Given the description of an element on the screen output the (x, y) to click on. 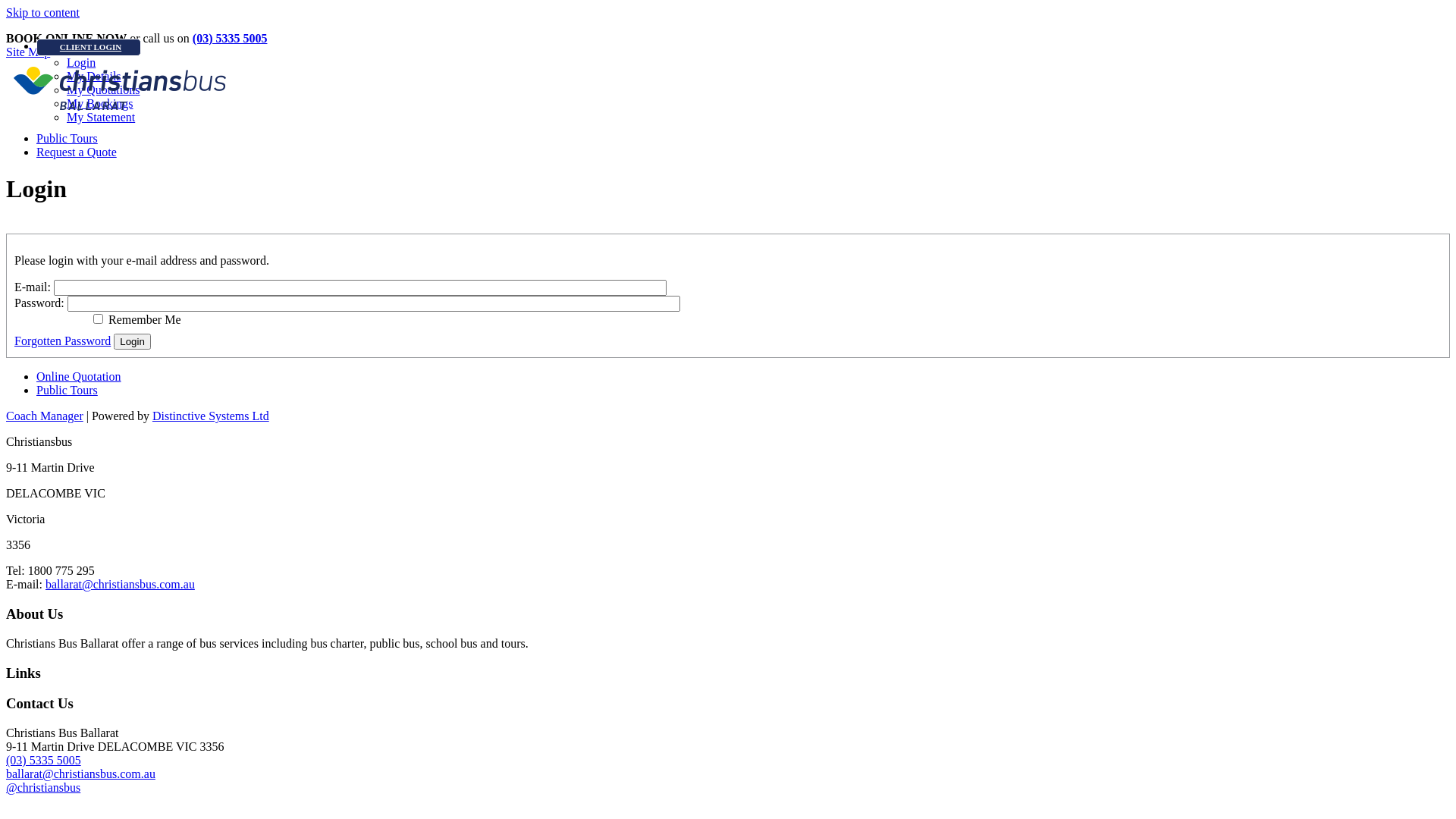
Coach Manager Element type: text (44, 415)
Public Tours Element type: text (66, 389)
Distinctive Systems Ltd Element type: text (210, 415)
Online Quotation Element type: text (78, 376)
Site Map Element type: text (28, 51)
(03) 5335 5005 Element type: text (43, 759)
My Details Element type: text (479, 76)
My Bookings Element type: text (479, 103)
Request a Quote Element type: text (76, 151)
ballarat@christiansbus.com.au Element type: text (80, 773)
Login Element type: text (131, 341)
My Statement Element type: text (479, 117)
CLIENT LOGIN Element type: text (88, 47)
@christiansbus Element type: text (43, 787)
Forgotten Password Element type: text (62, 340)
ballarat@christiansbus.com.au Element type: text (119, 583)
Christiansbus | Tel: 1800 775 295 Element type: hover (119, 87)
(03) 5335 5005 Element type: text (229, 37)
My Quotations Element type: text (479, 90)
Login Element type: text (479, 62)
Public Tours Element type: text (66, 137)
Skip to content Element type: text (42, 12)
